Given the description of an element on the screen output the (x, y) to click on. 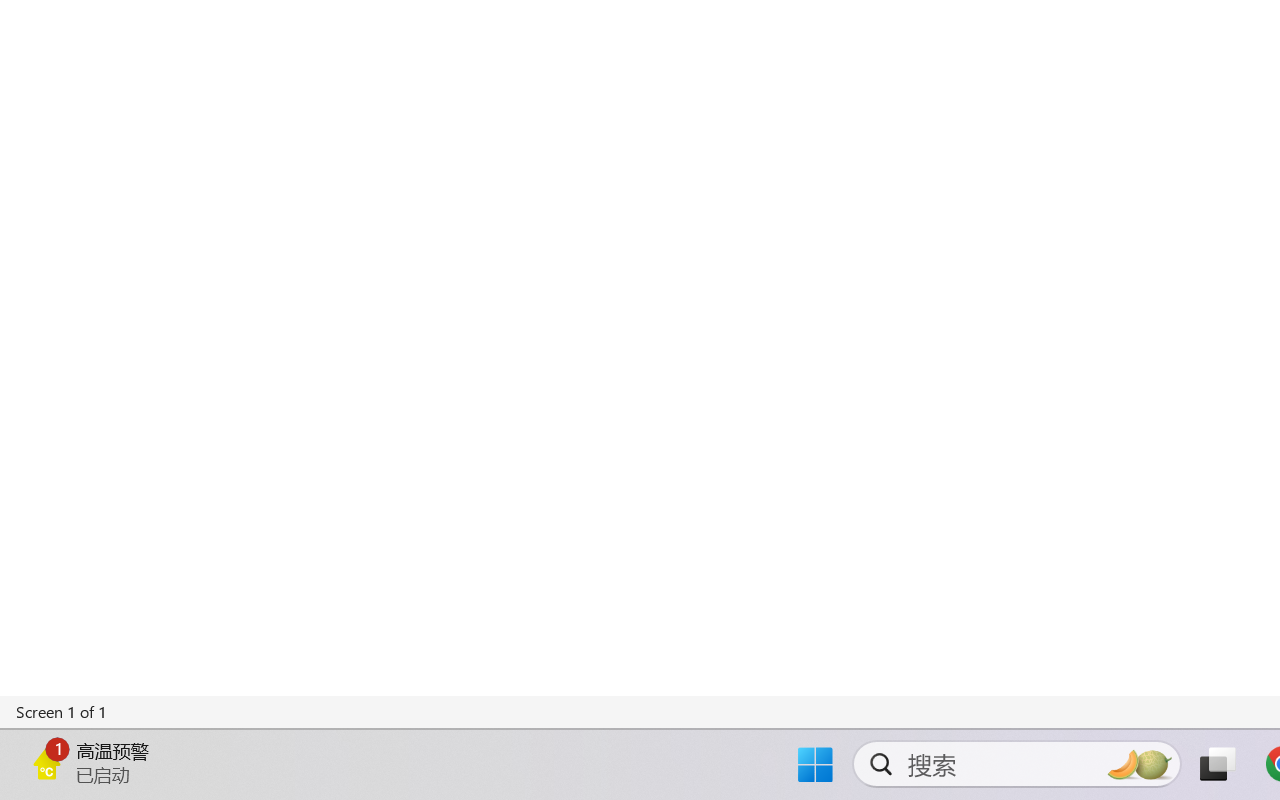
Page Number Screen 1 of 1  (62, 712)
